Given the description of an element on the screen output the (x, y) to click on. 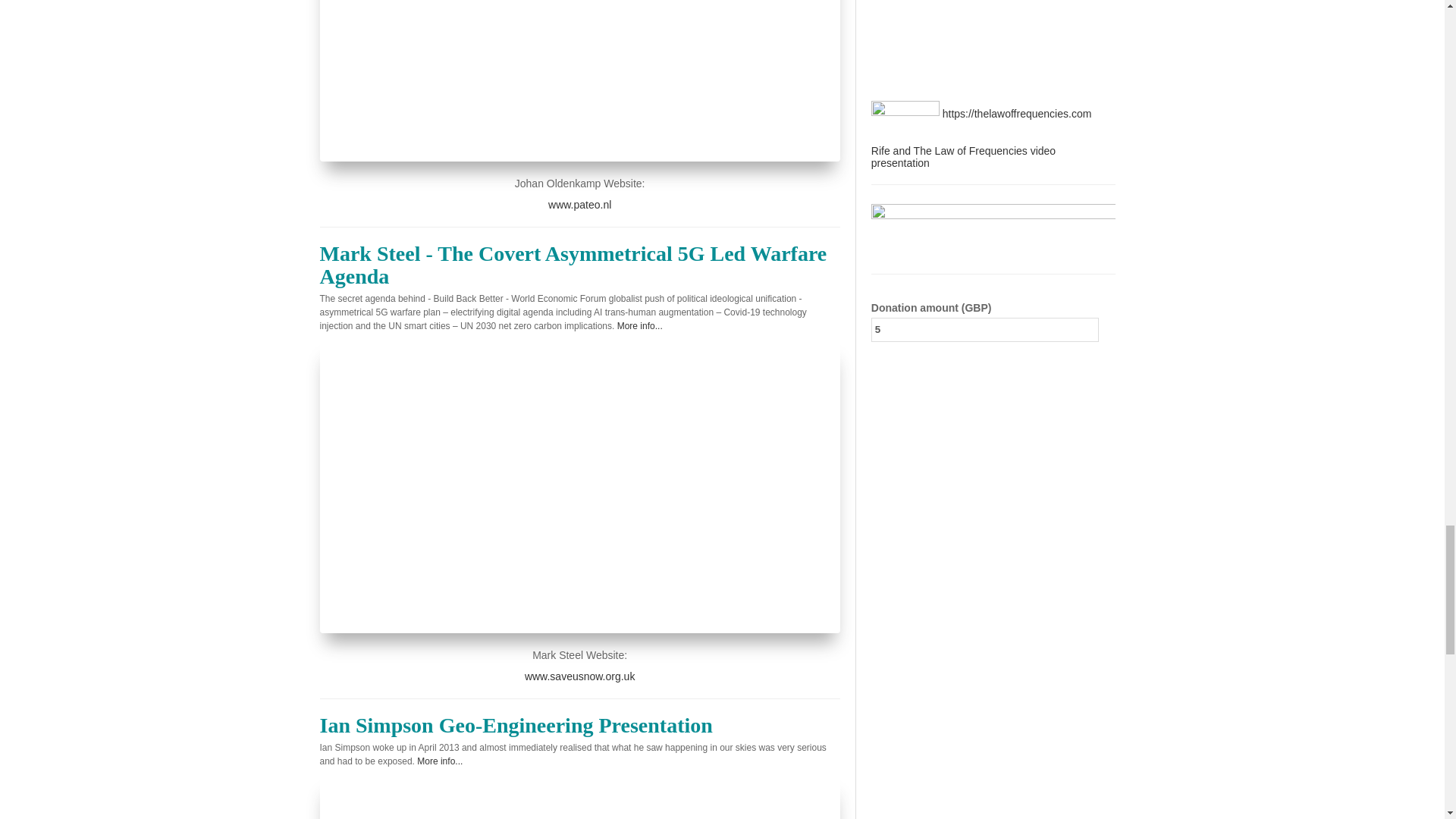
More info... (439, 760)
5 (984, 329)
More info... (639, 326)
www.pateo.nl (579, 204)
www.saveusnow.org.uk (579, 676)
